Given the description of an element on the screen output the (x, y) to click on. 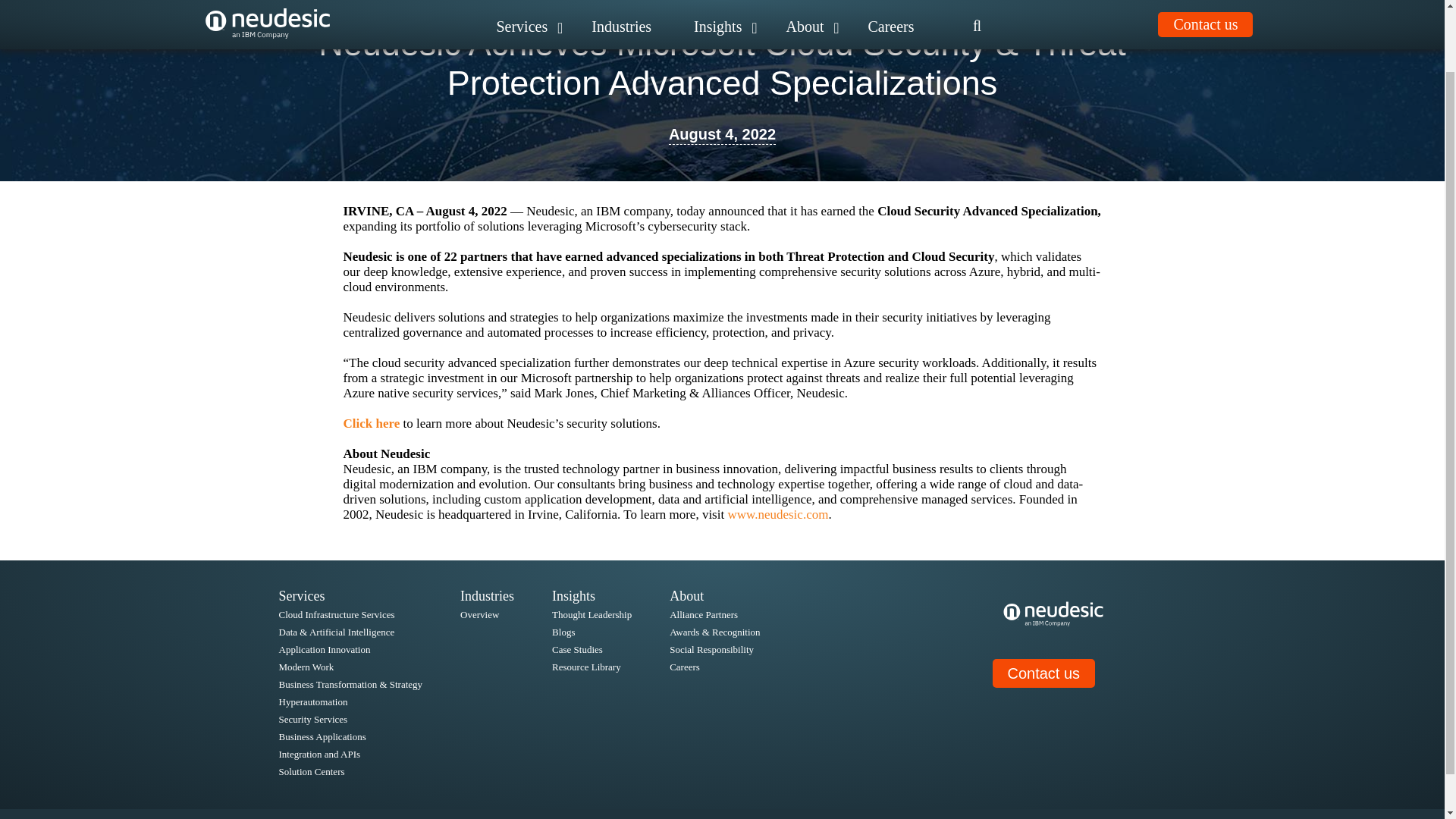
Modern Work (306, 666)
neudesic-logo-white (1052, 613)
Security Services (313, 718)
Business Applications (322, 736)
Hyperautomation (313, 701)
www.neudesic.com (777, 513)
Click here (370, 423)
Cloud Infrastructure Services (336, 614)
Integration and APIs (320, 754)
Services (301, 595)
